Given the description of an element on the screen output the (x, y) to click on. 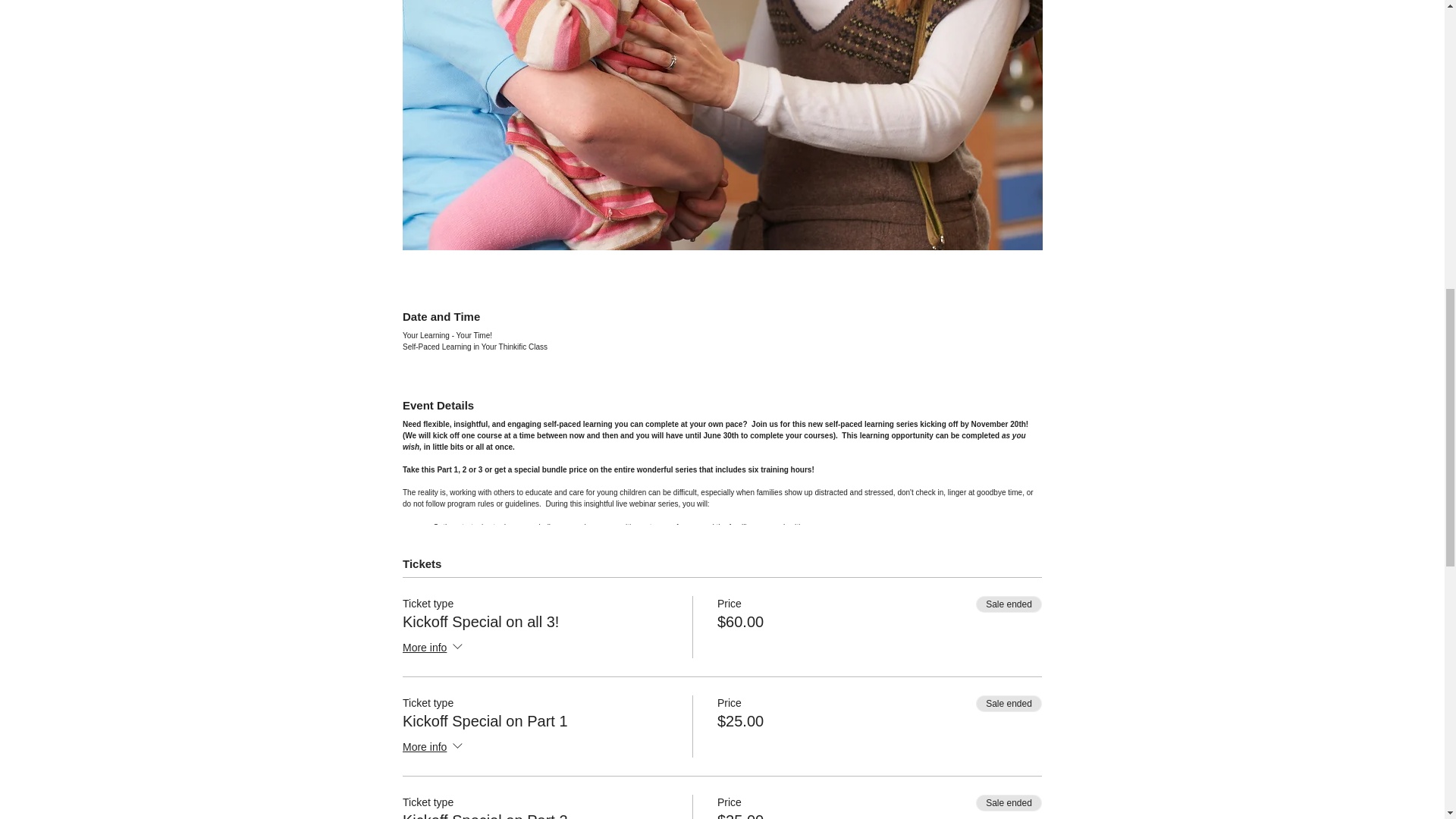
More info (434, 747)
More info (434, 648)
